Given the description of an element on the screen output the (x, y) to click on. 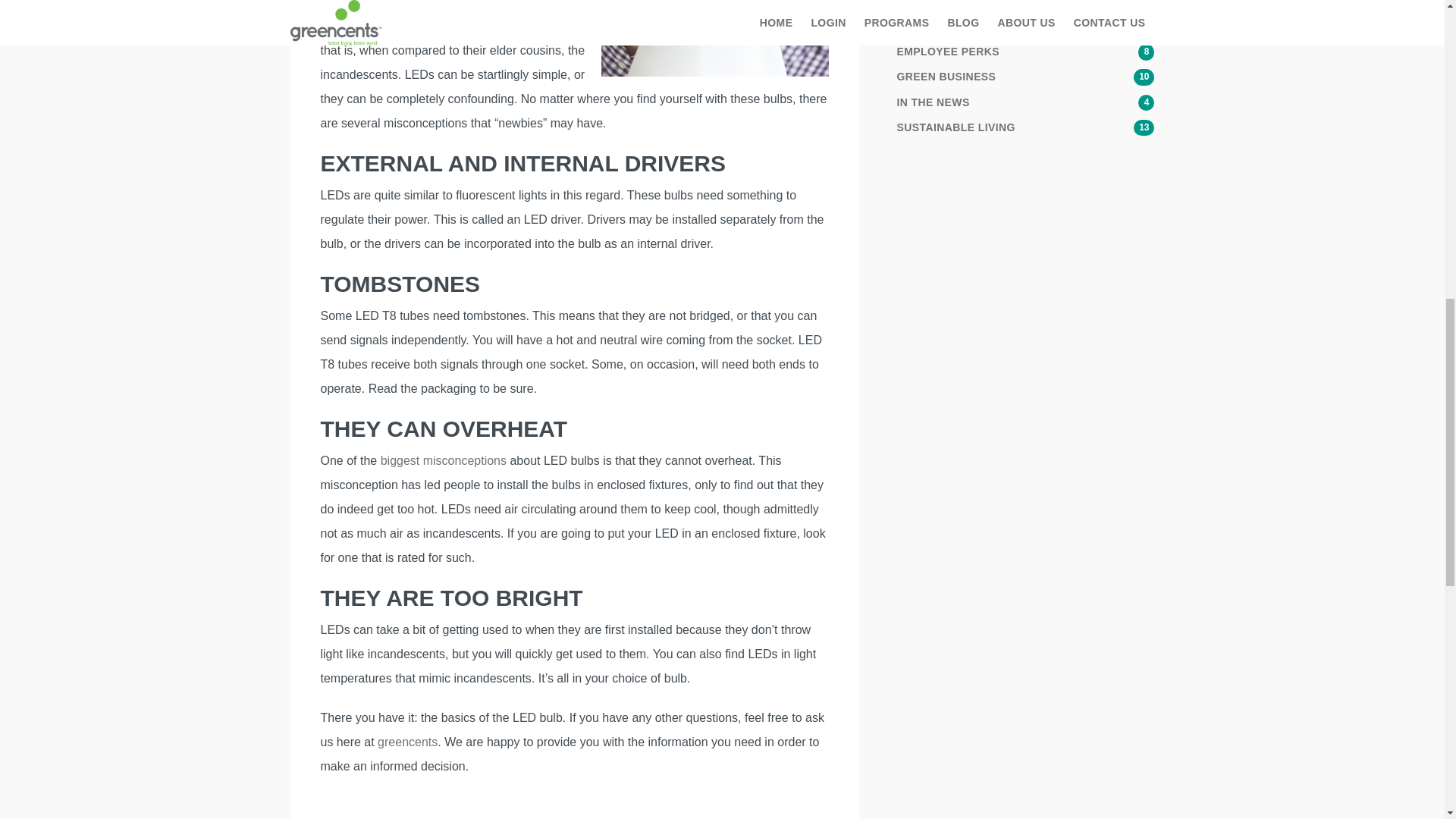
View all posts in All About LEDs (1025, 26)
View all posts in Sustainable Living (1025, 127)
View all posts in Green Business (1025, 76)
biggest misconceptions (443, 460)
subtle nuances (360, 25)
View all posts in In The News (1025, 102)
greencents (407, 741)
View all posts in Employee Perks (1025, 51)
